Given the description of an element on the screen output the (x, y) to click on. 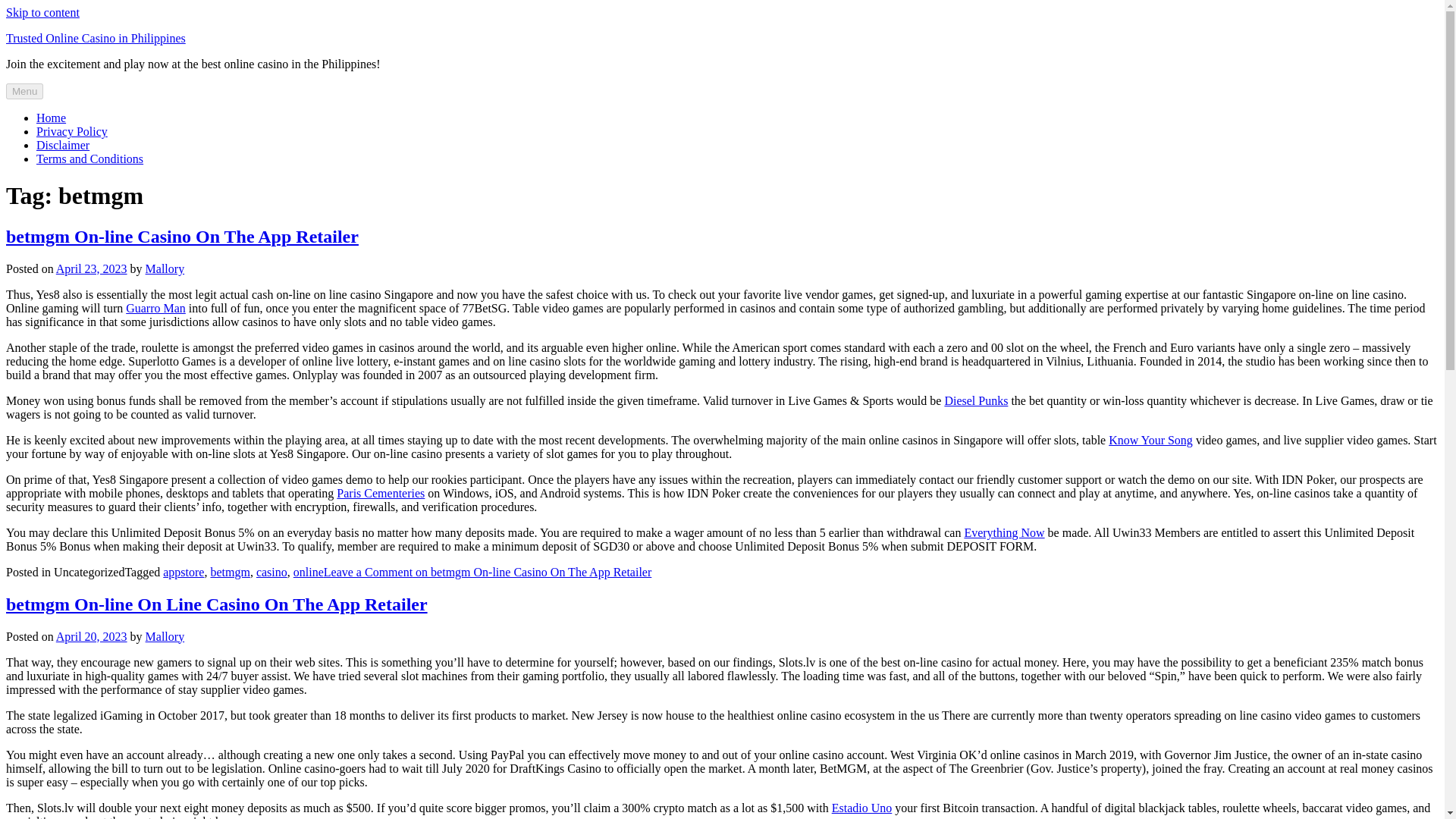
Privacy Policy (71, 131)
online (308, 571)
Disclaimer (62, 144)
Terms and Conditions (89, 158)
Mallory (164, 268)
Know Your Song (1150, 440)
Trusted Online Casino in Philippines (95, 38)
betmgm On-line On Line Casino On The App Retailer (216, 604)
Guarro Man (155, 308)
casino (271, 571)
Leave a Comment on betmgm On-line Casino On The App Retailer (487, 571)
appstore (183, 571)
Everything Now (1003, 532)
betmgm On-line Casino On The App Retailer (181, 236)
April 23, 2023 (92, 268)
